Given the description of an element on the screen output the (x, y) to click on. 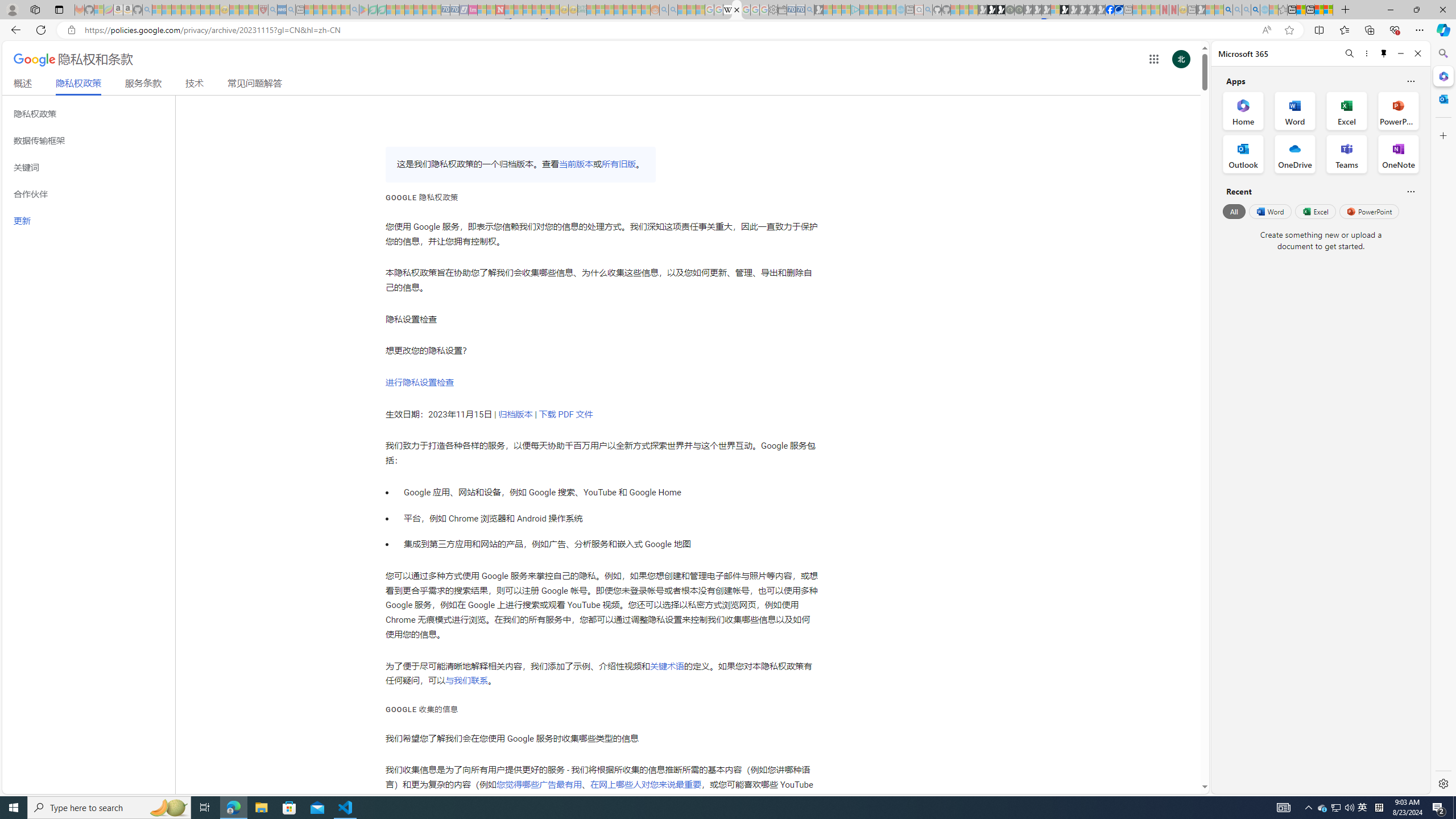
Is this helpful? (1410, 191)
